Given the description of an element on the screen output the (x, y) to click on. 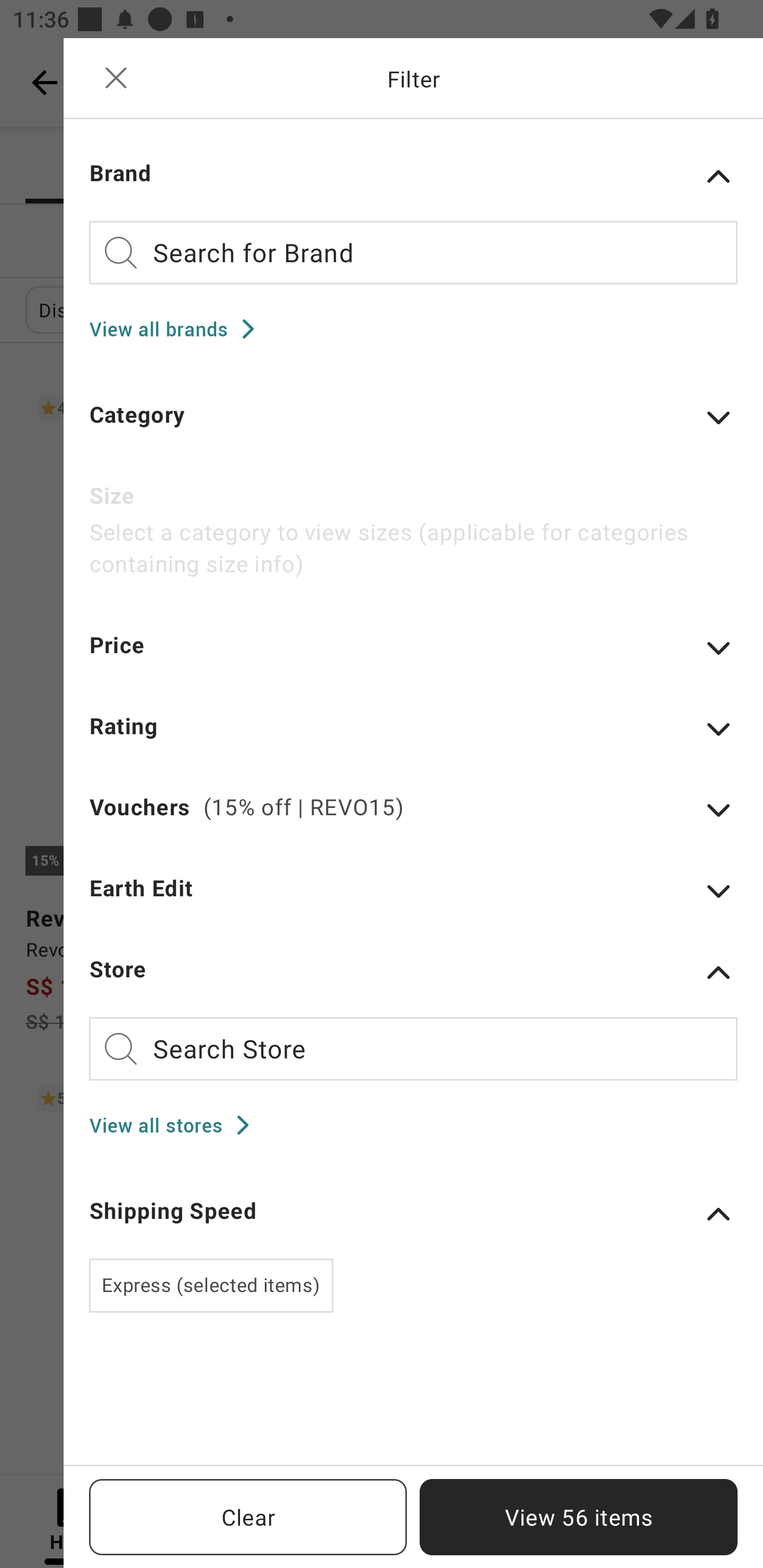
Brand (413, 176)
Search for Brand (413, 252)
View all brands (177, 328)
Category (413, 426)
Price (413, 656)
Rating (413, 738)
Vouchers (15% off | REVO15) (413, 818)
Earth Edit (413, 899)
Store (413, 971)
Search Store (413, 1048)
View all stores (174, 1124)
Shipping Speed (413, 1213)
Express (selected items) (211, 1285)
Clear (247, 1516)
View 56 items (578, 1516)
